Given the description of an element on the screen output the (x, y) to click on. 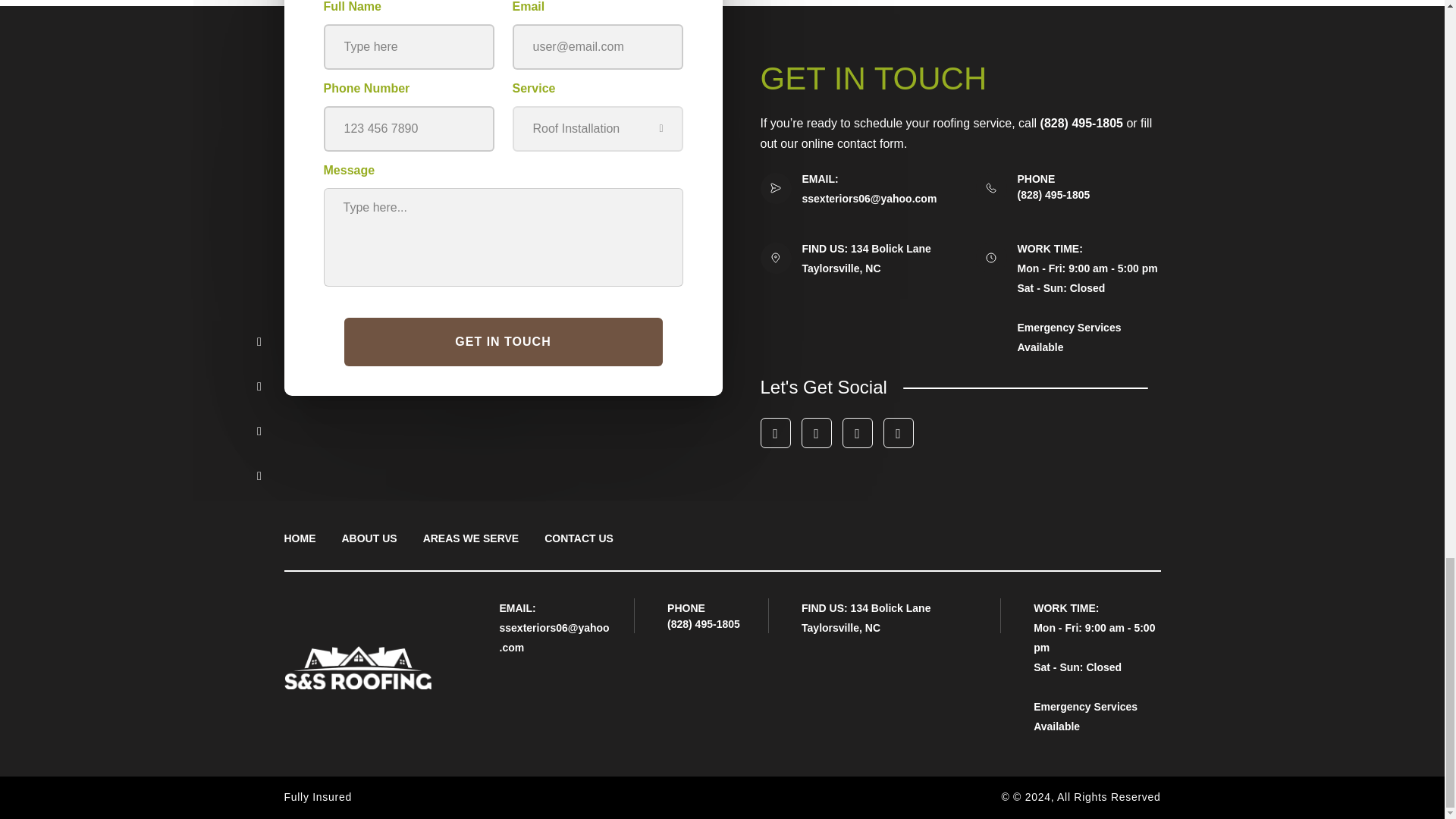
get in touch (502, 341)
Roof Installation (597, 128)
